Given the description of an element on the screen output the (x, y) to click on. 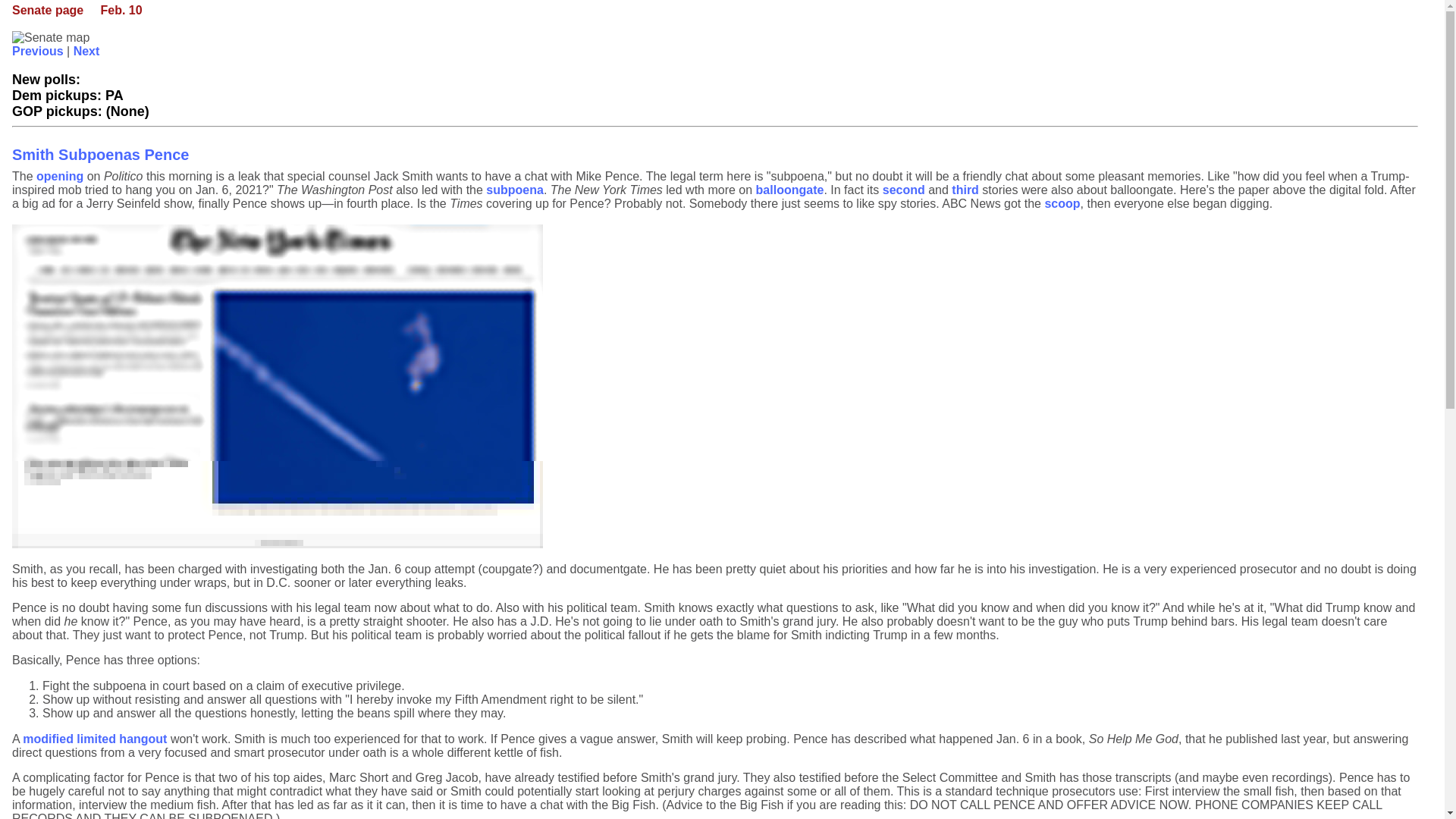
Previous (37, 51)
opening (59, 175)
modified limited hangout (95, 738)
third (965, 189)
Next (87, 51)
second (903, 189)
Smith Subpoenas Pence (100, 154)
balloongate (789, 189)
scoop (1061, 203)
subpoena (514, 189)
